Given the description of an element on the screen output the (x, y) to click on. 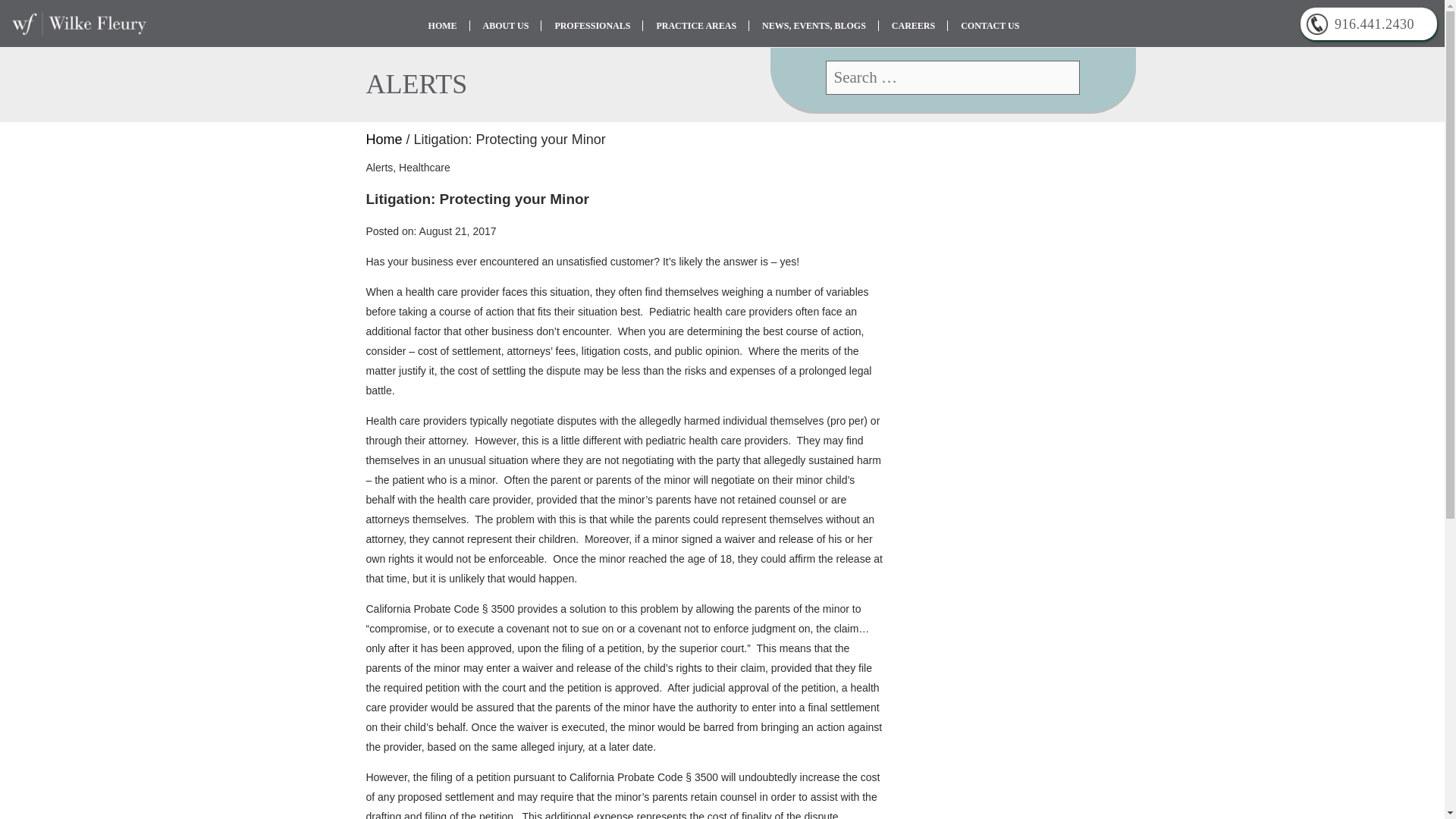
NEWS, EVENTS, BLOGS (814, 25)
CAREERS (913, 25)
Search (1062, 76)
ABOUT US (505, 25)
Alerts (379, 167)
Search (1062, 76)
Home (383, 139)
Healthcare (423, 167)
HOME (443, 25)
